Given the description of an element on the screen output the (x, y) to click on. 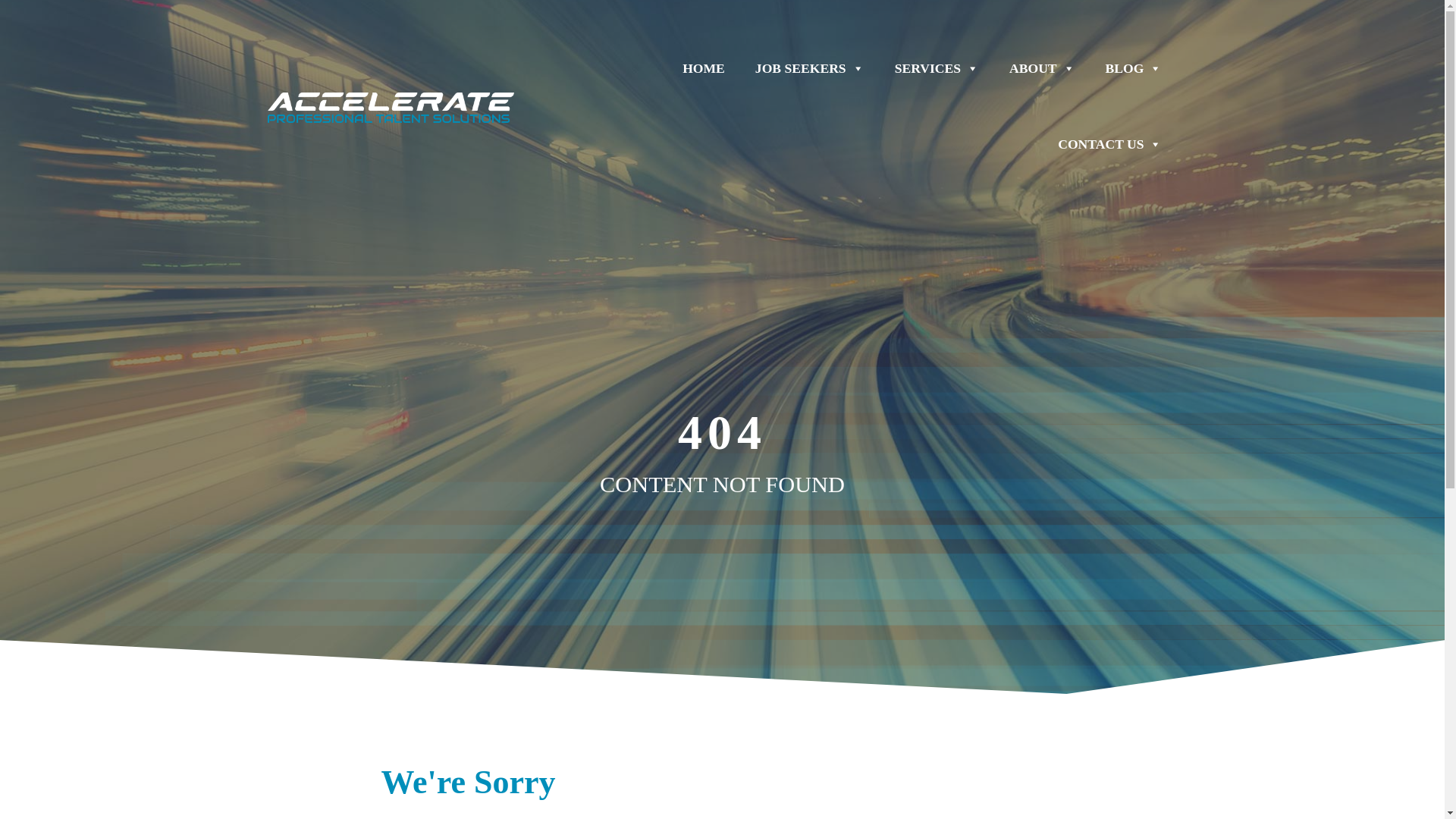
HOME (702, 68)
